Given the description of an element on the screen output the (x, y) to click on. 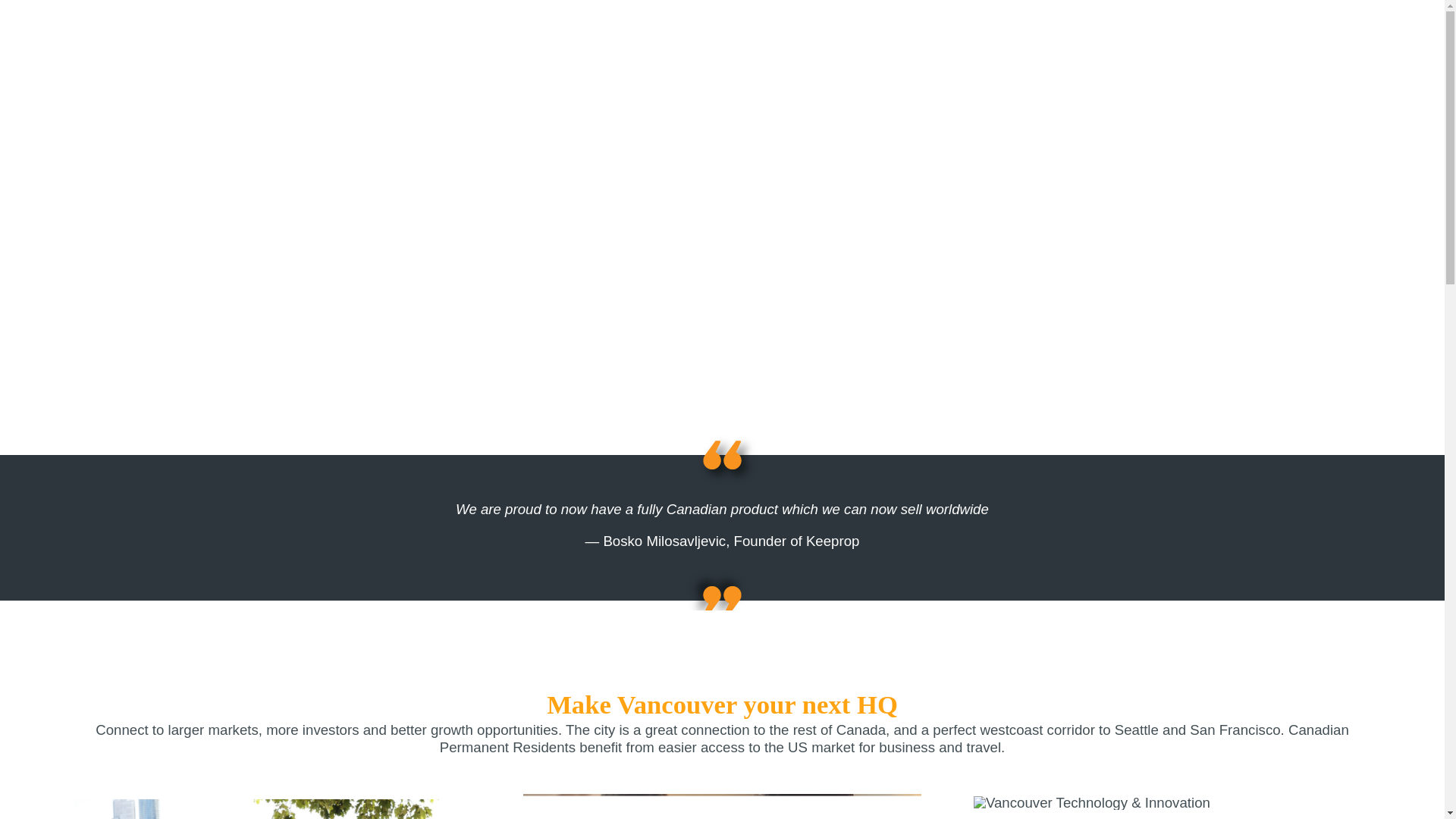
Incubation (1095, 33)
Startup Visa (1010, 33)
Canadian Permanent Residency (721, 806)
airquotesArtboard 61 (722, 599)
Vancouver Connectivity (270, 806)
airquotesArtboard 61 (722, 454)
